Given the description of an element on the screen output the (x, y) to click on. 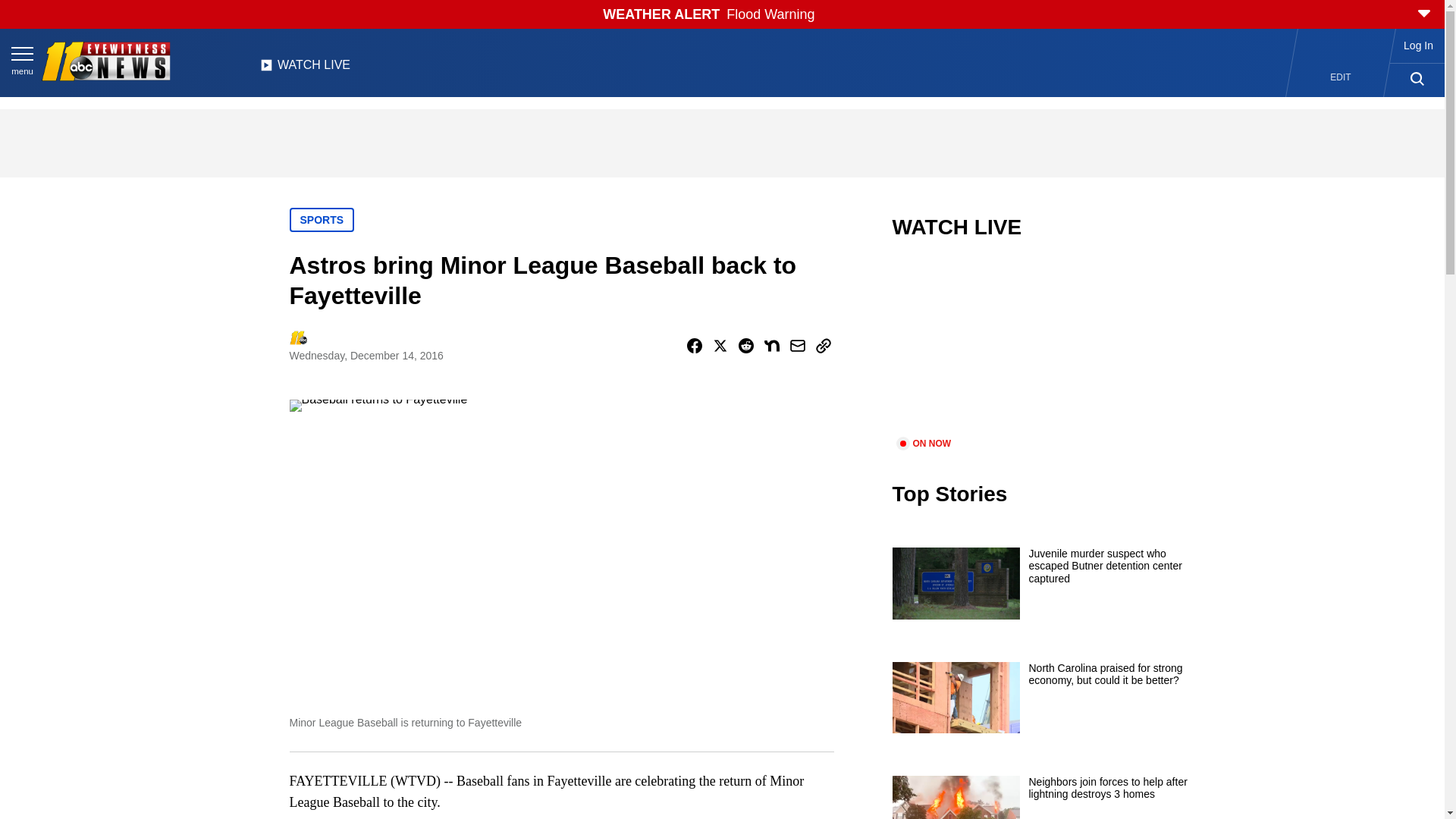
video.title (1043, 347)
WATCH LIVE (305, 69)
EDIT (1340, 77)
